Given the description of an element on the screen output the (x, y) to click on. 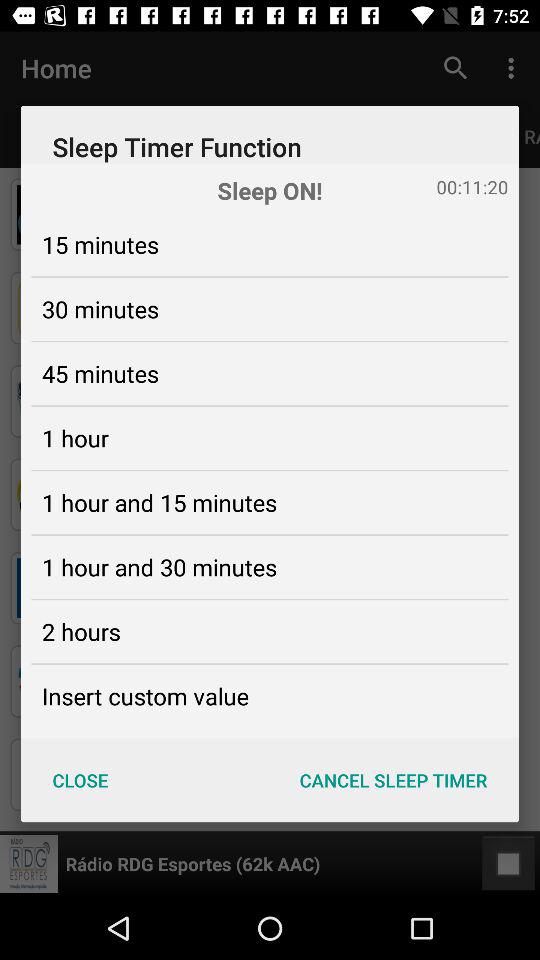
press the icon below the 1 hour and item (81, 631)
